Given the description of an element on the screen output the (x, y) to click on. 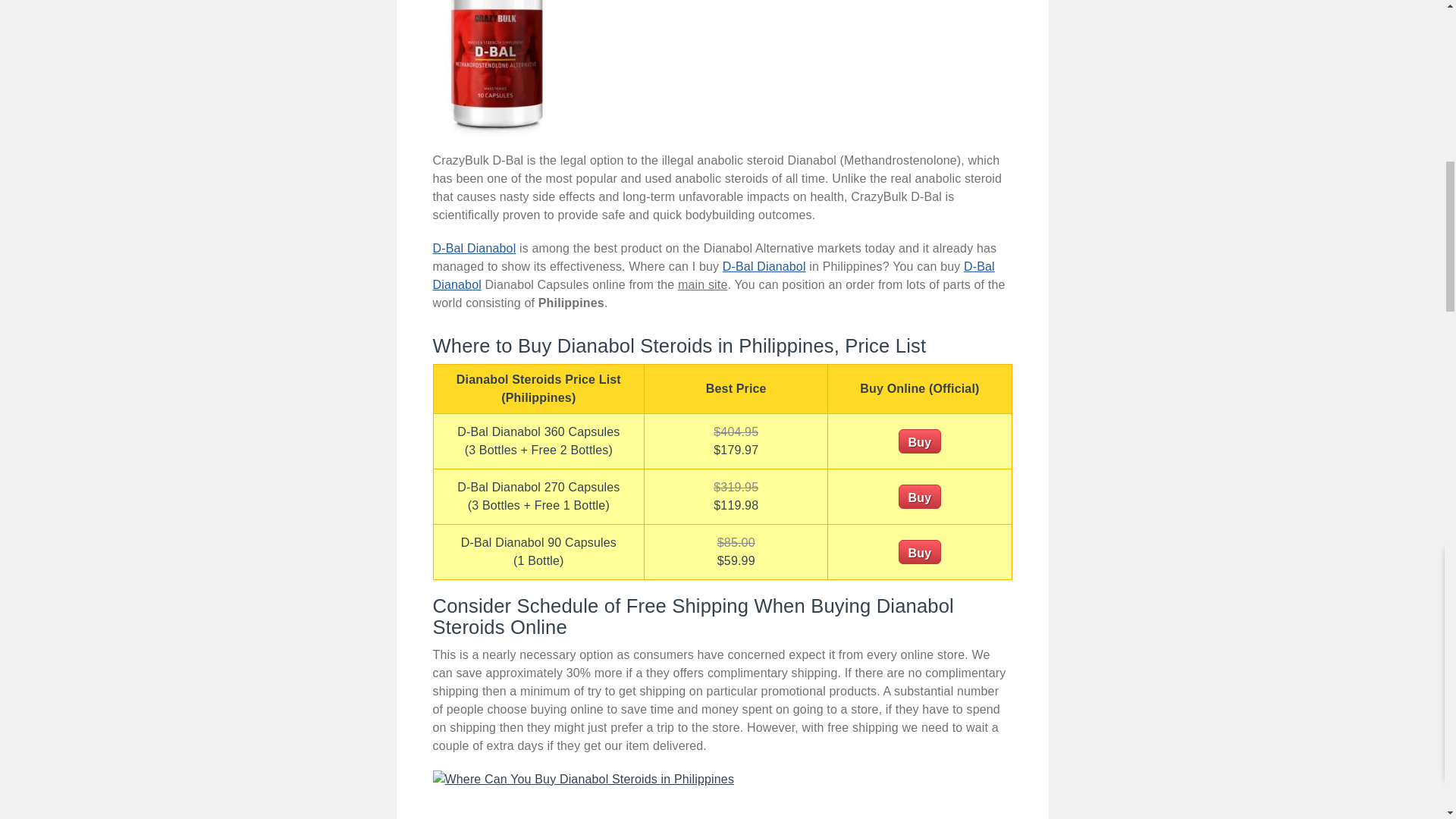
Where Can You Buy Dianabol Steroids in Philippines (495, 69)
